Given the description of an element on the screen output the (x, y) to click on. 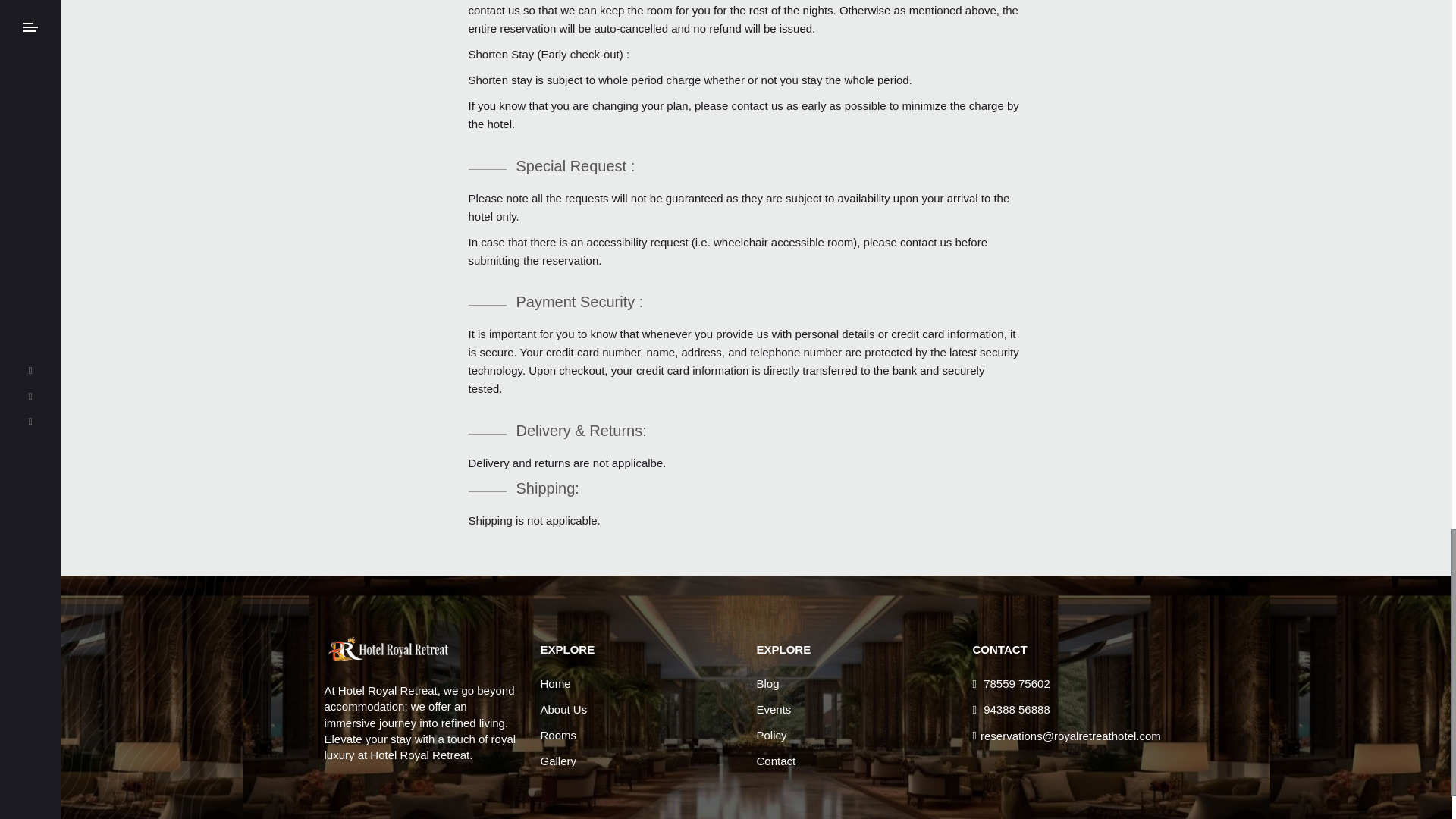
Rooms (558, 735)
About Us (563, 709)
78559 75602 (1010, 683)
Gallery (558, 760)
Home (555, 683)
Policy (772, 735)
Contact (776, 760)
94388 56888 (1010, 709)
Events (774, 709)
